Given the description of an element on the screen output the (x, y) to click on. 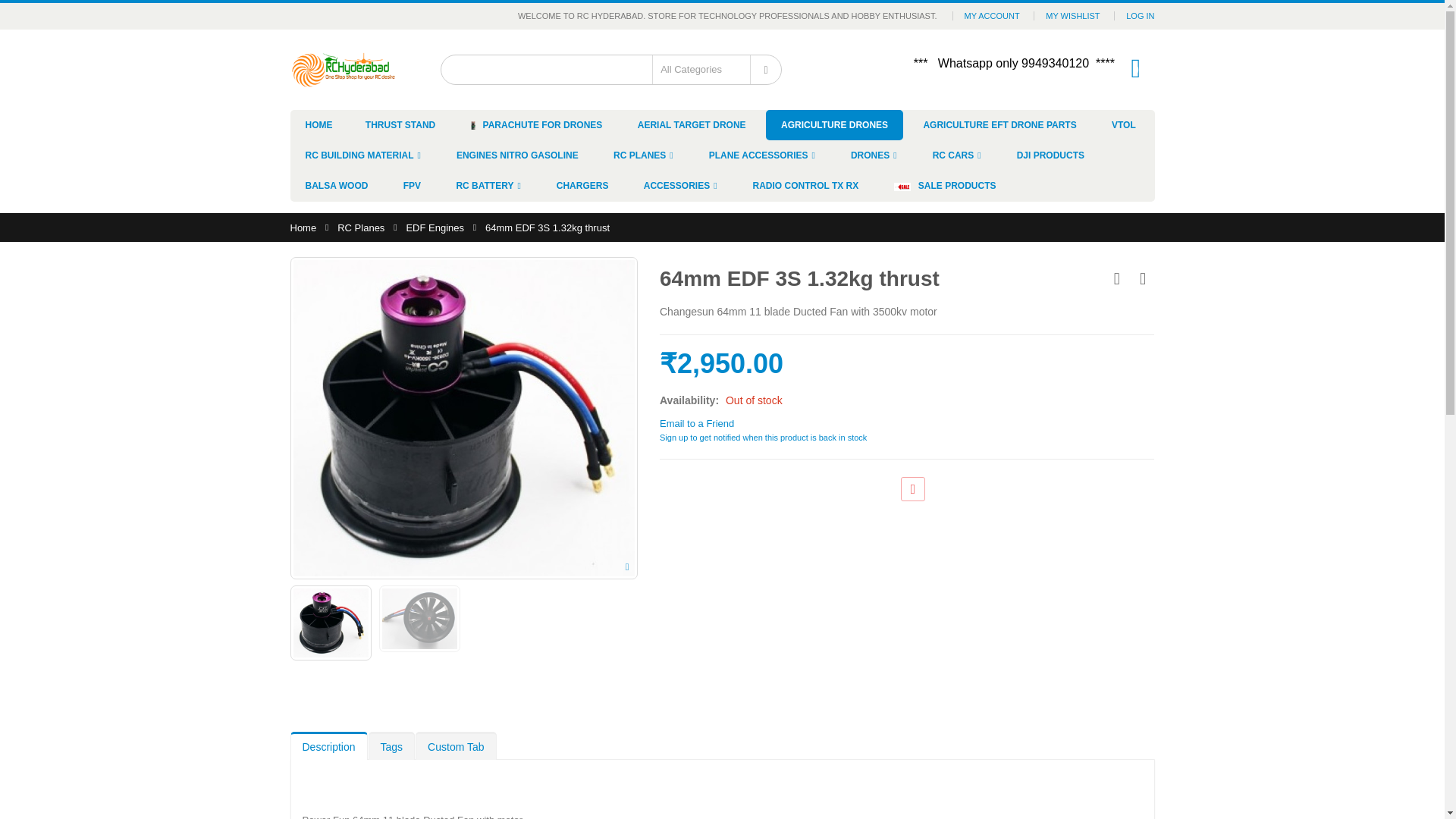
Hobby Store (343, 69)
My Account (991, 15)
PLANE ACCESSORIES (762, 155)
ENGINES NITRO GASOLINE (517, 155)
Contact (765, 69)
RC BUILDING MATERIAL (362, 155)
64mm EDF  (419, 618)
Sign up to get notified when this product is back in stock (762, 437)
0 (1136, 67)
MY ACCOUNT (991, 15)
